Given the description of an element on the screen output the (x, y) to click on. 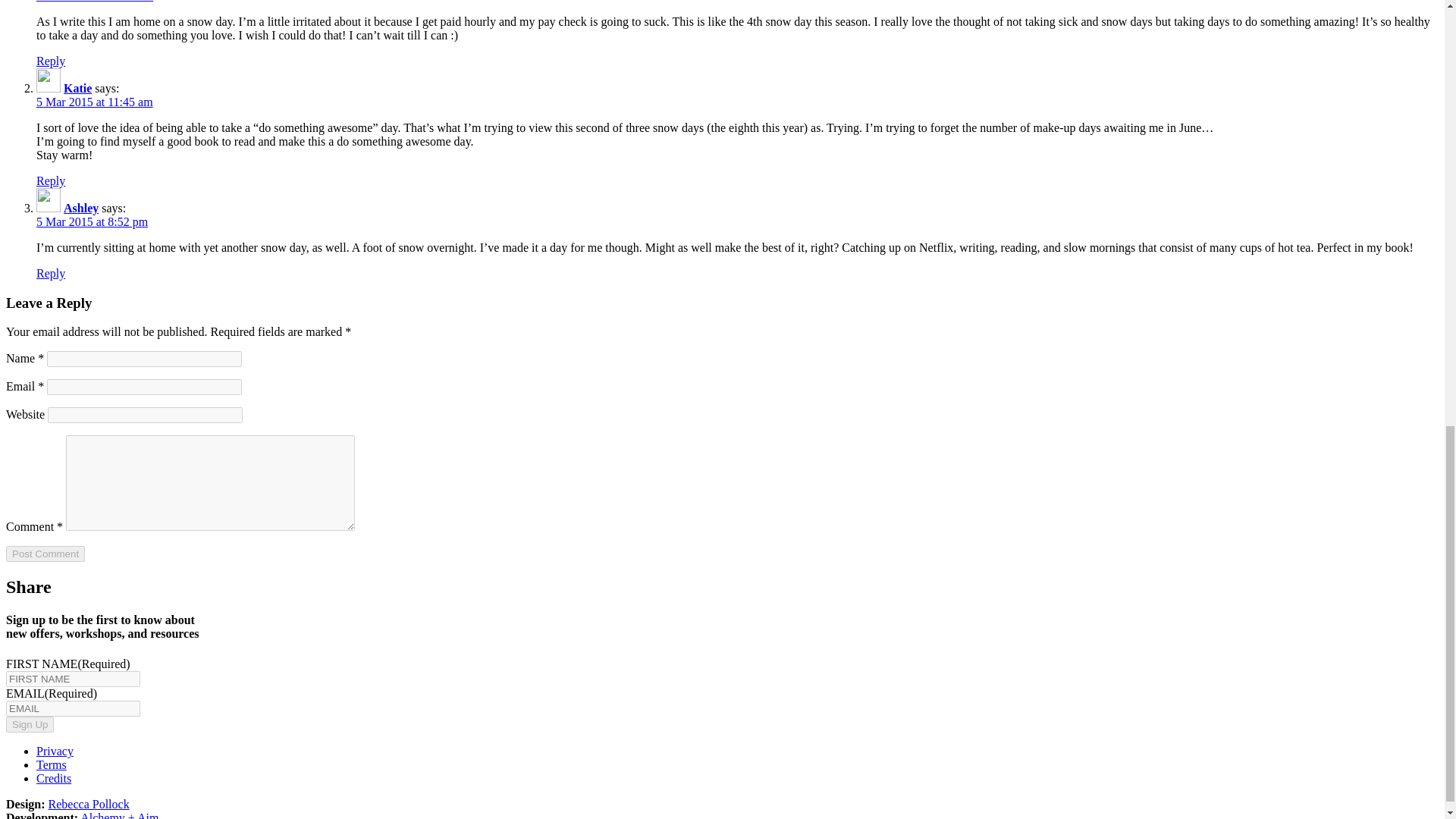
5 Mar 2015 at 11:45 am (94, 101)
5 Mar 2015 at 8:52 pm (92, 221)
Reply (50, 60)
Sign Up (29, 724)
Privacy (55, 750)
Sign Up (29, 724)
5 Mar 2015 at 10:23 am (94, 1)
Reply (50, 273)
Katie (77, 88)
Post Comment (44, 553)
Post Comment (44, 553)
Terms (51, 764)
Reply (50, 180)
Ashley (81, 207)
